Given the description of an element on the screen output the (x, y) to click on. 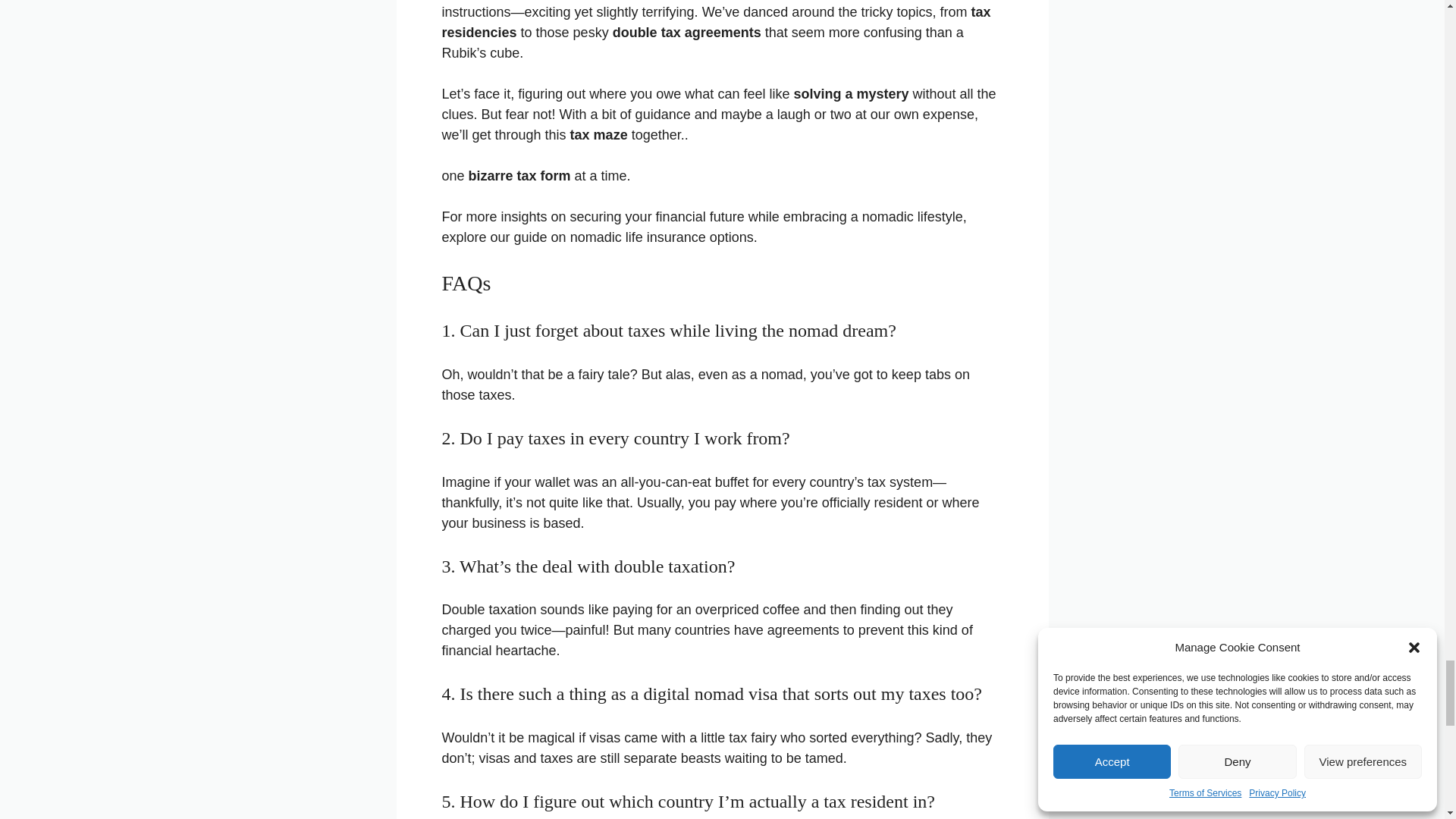
nomadic life insurance options (662, 237)
